Given the description of an element on the screen output the (x, y) to click on. 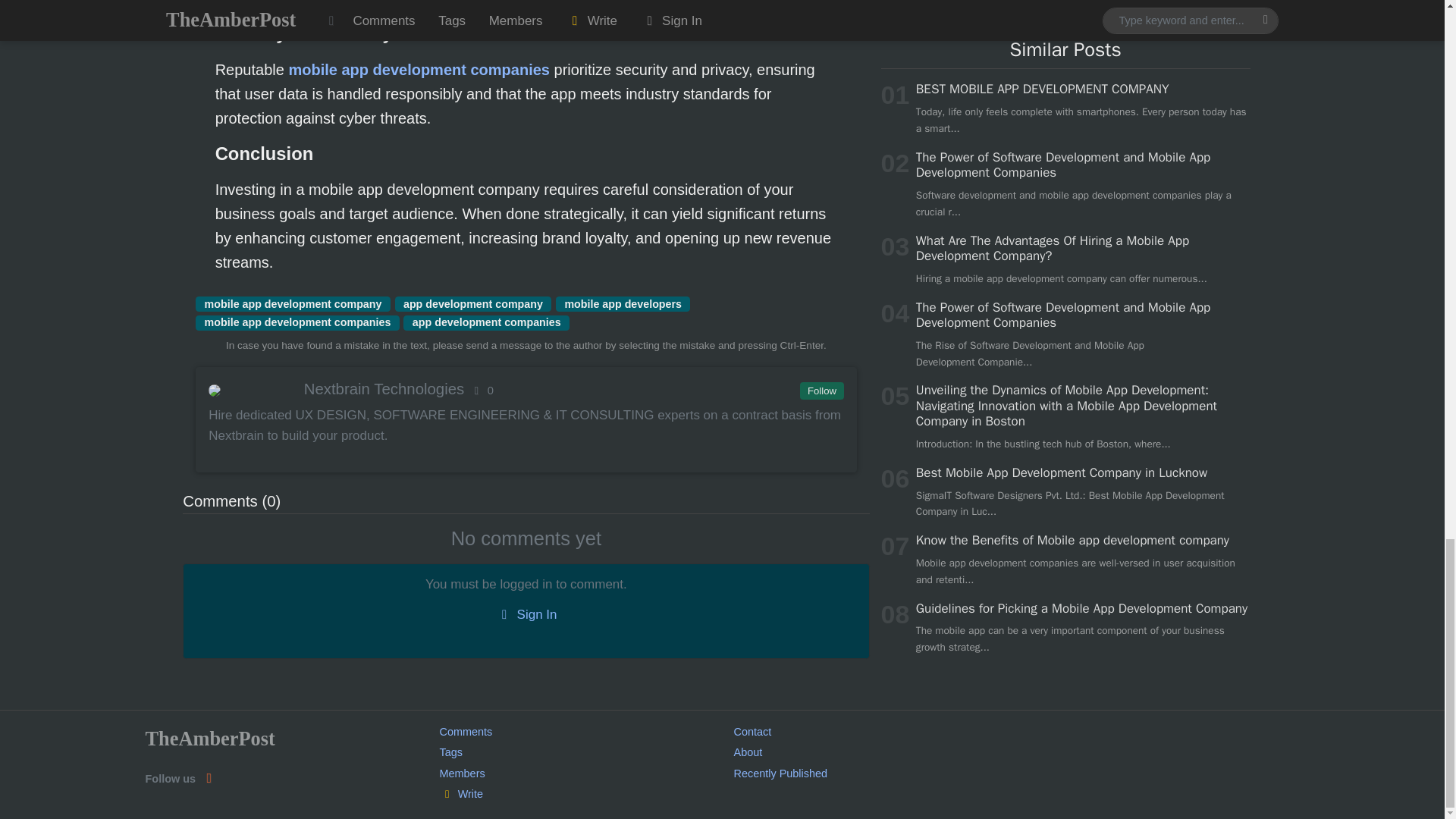
mobile app developers (623, 304)
app development company (472, 304)
mobile app development company (292, 304)
mobile app developers (623, 304)
app development companies (486, 322)
Rating (480, 390)
Follow (821, 391)
mobile app development companies (296, 322)
